Given the description of an element on the screen output the (x, y) to click on. 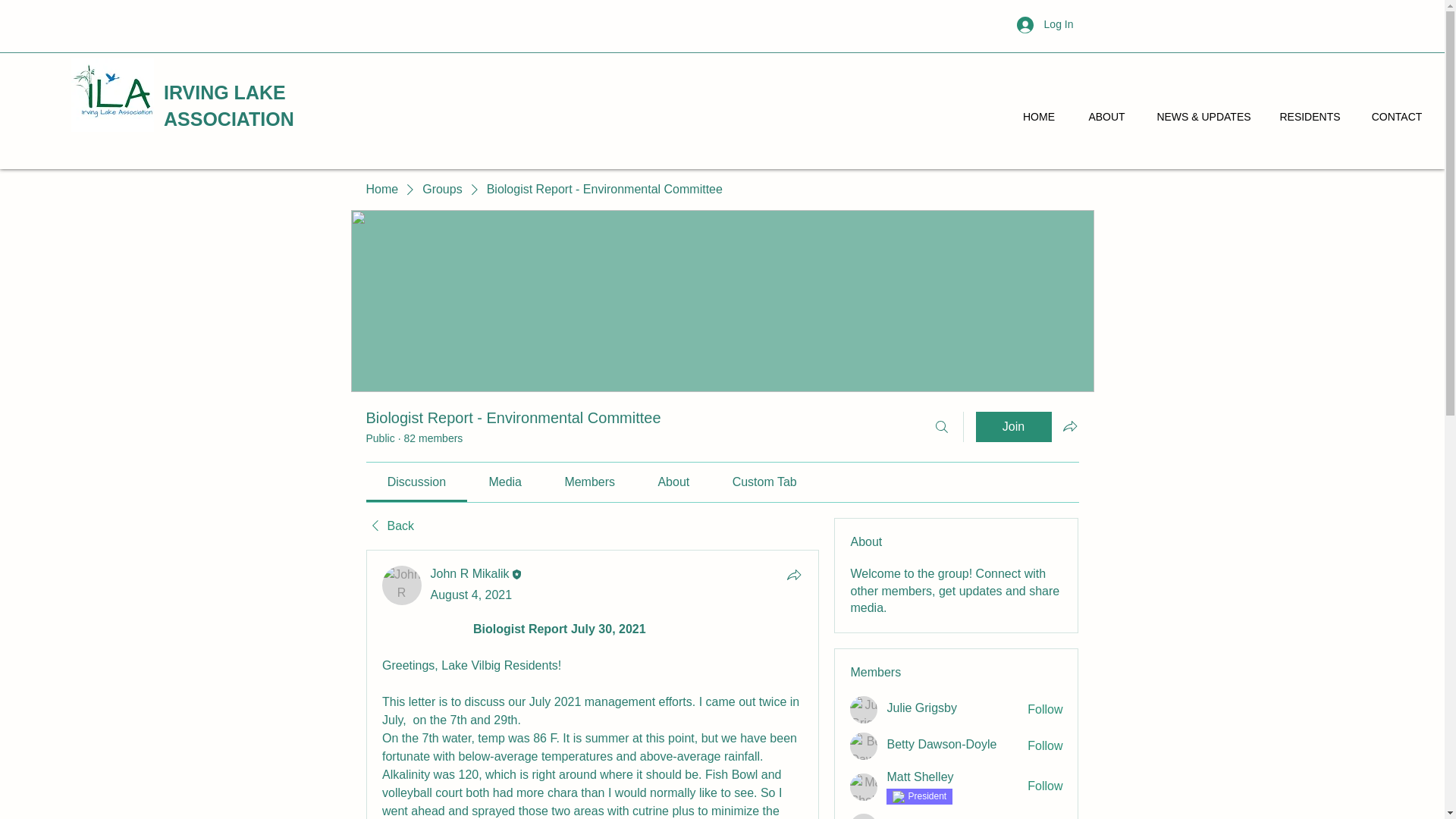
Betty Dawson-Doyle (940, 744)
HOME (1038, 116)
Barbara Twaddle (863, 816)
Julie Grigsby (921, 708)
Julie Grigsby (921, 708)
John R Mikalik (469, 573)
ILA President (926, 796)
John R Mikalik (401, 585)
Home (381, 189)
Groups (441, 189)
